Given the description of an element on the screen output the (x, y) to click on. 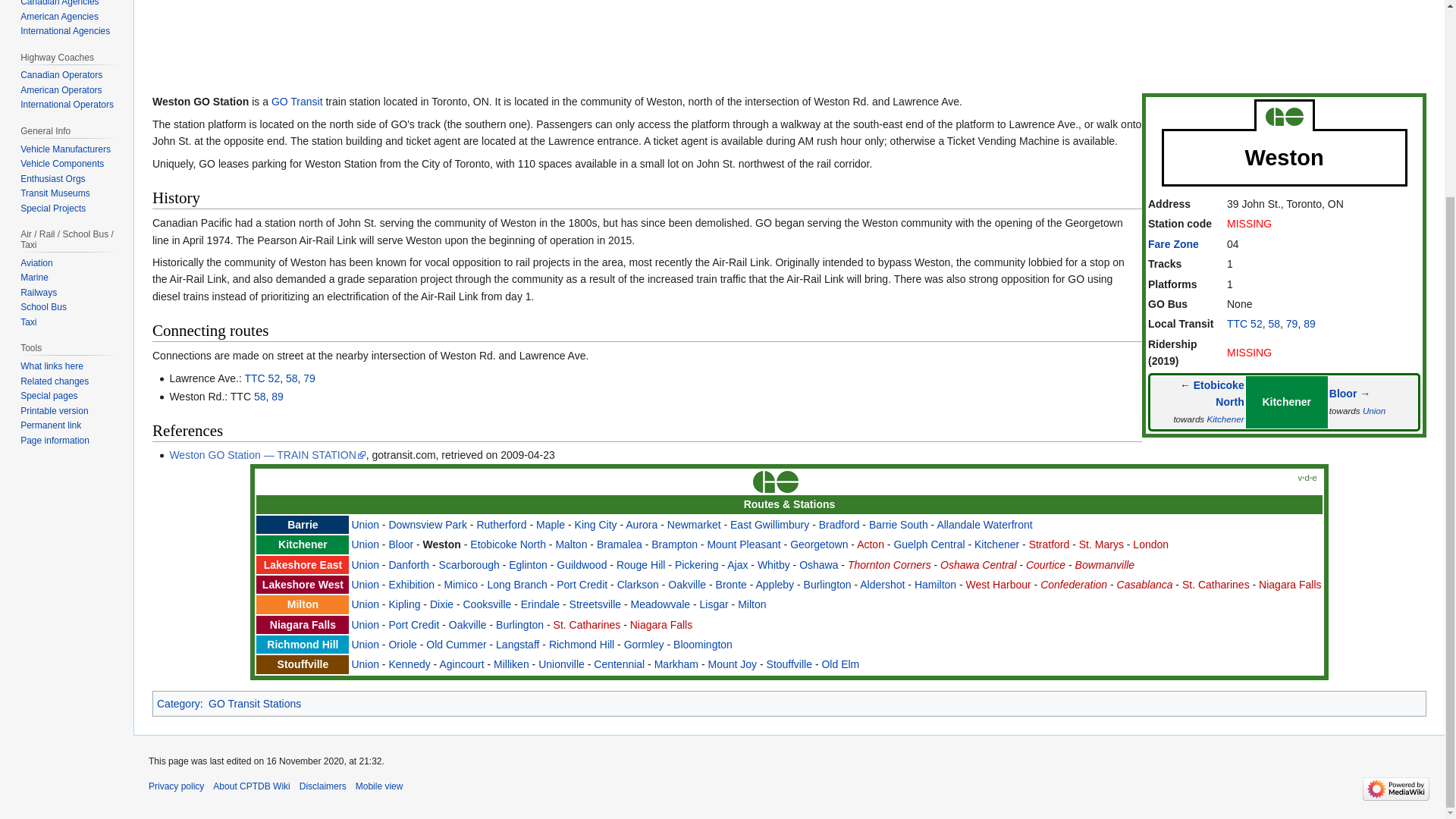
52 (274, 378)
Union (1374, 410)
Toronto Transit Commission (1237, 323)
GO Transit Kitchener line (1286, 401)
Bradford (839, 524)
58 (259, 396)
79 (308, 378)
58 (291, 378)
Toronto Transit Commission route 79 'Scarlett Rd' (308, 378)
89 (1309, 323)
